Given the description of an element on the screen output the (x, y) to click on. 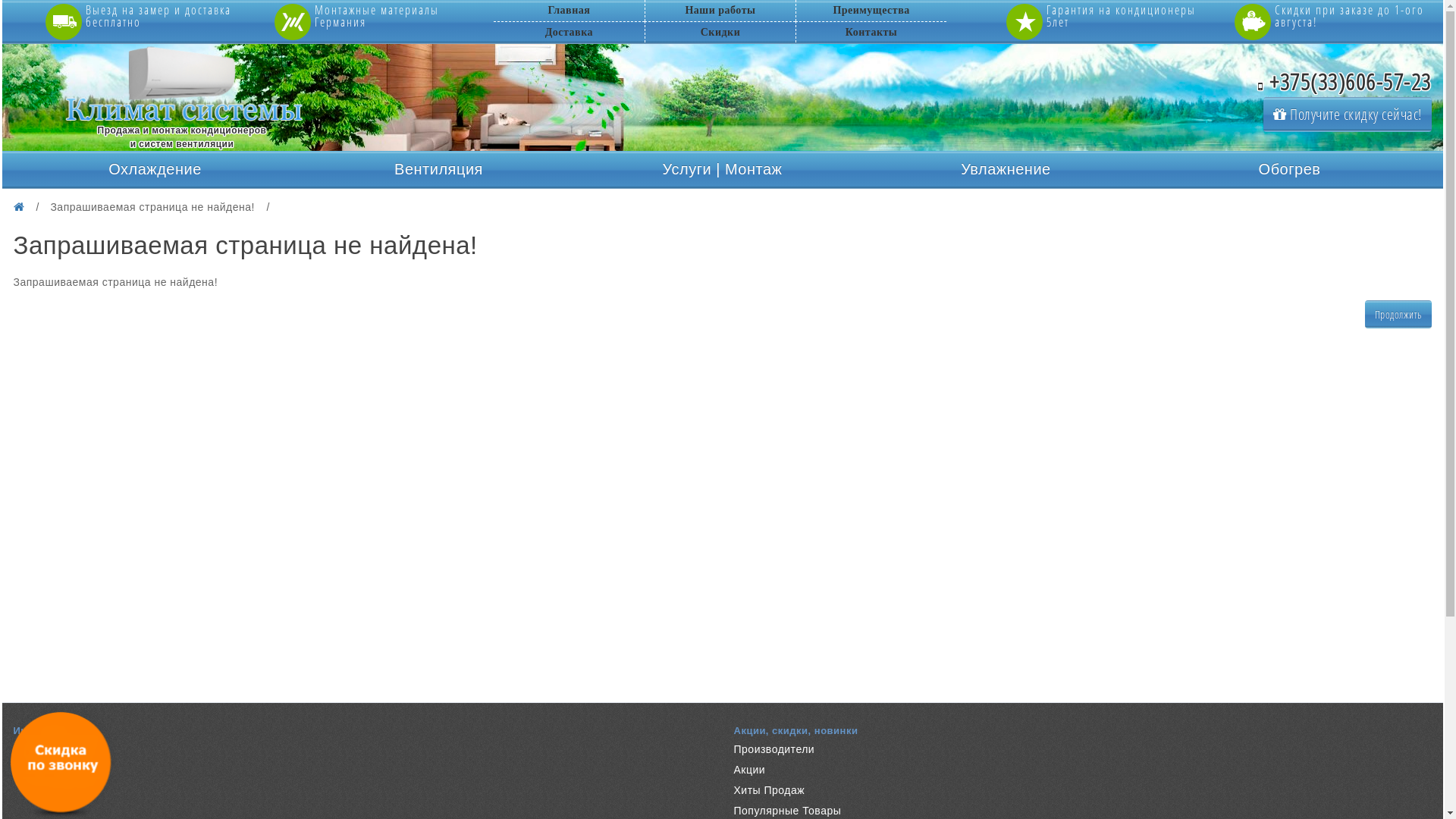
+375(33)606-57-23 Element type: text (1344, 81)
